Given the description of an element on the screen output the (x, y) to click on. 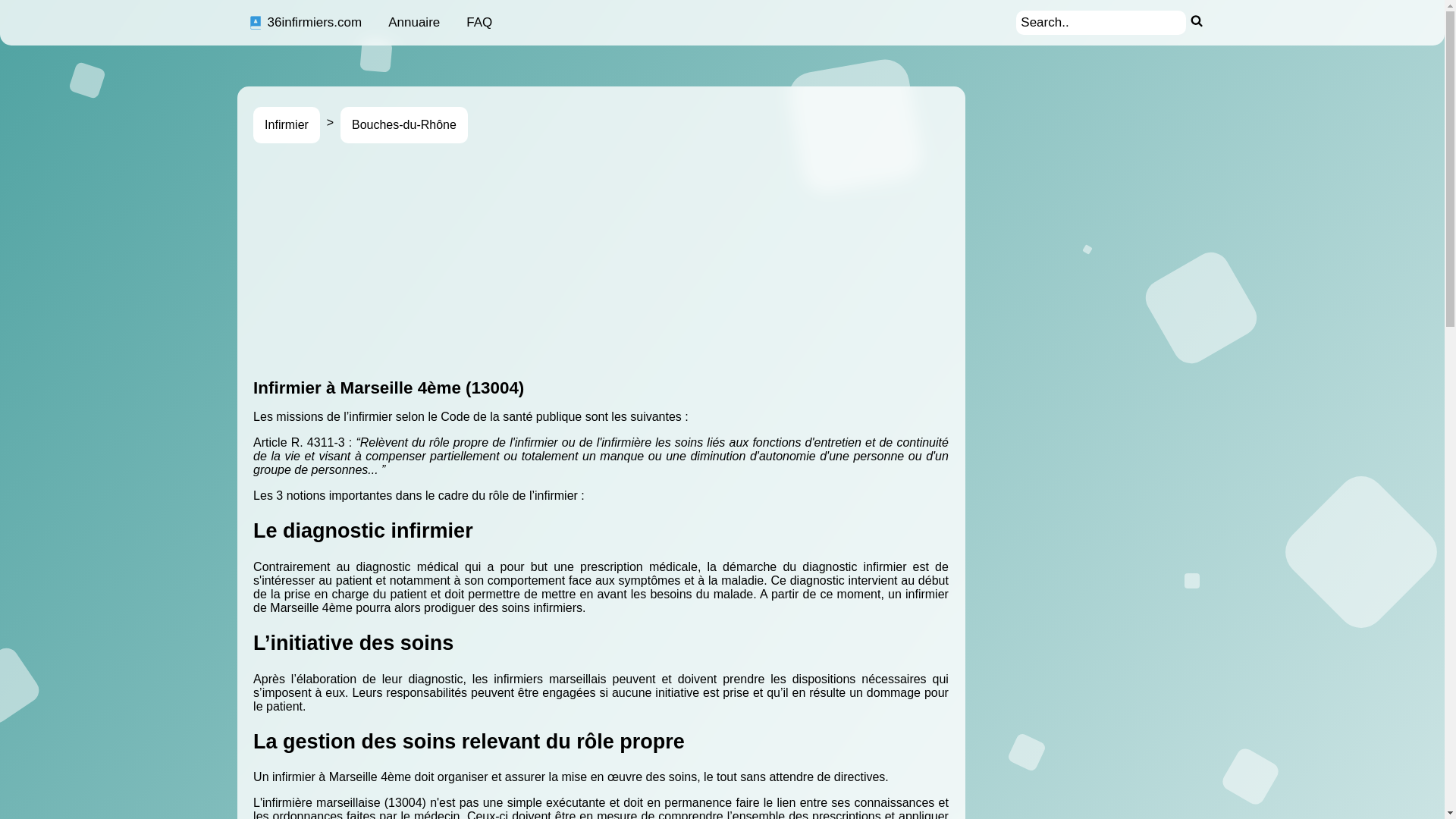
36infirmiers.com Element type: text (304, 22)
Annuaire Element type: text (413, 22)
FAQ Element type: text (479, 22)
Advertisement Element type: hover (708, 260)
Infirmier Element type: text (286, 124)
